Given the description of an element on the screen output the (x, y) to click on. 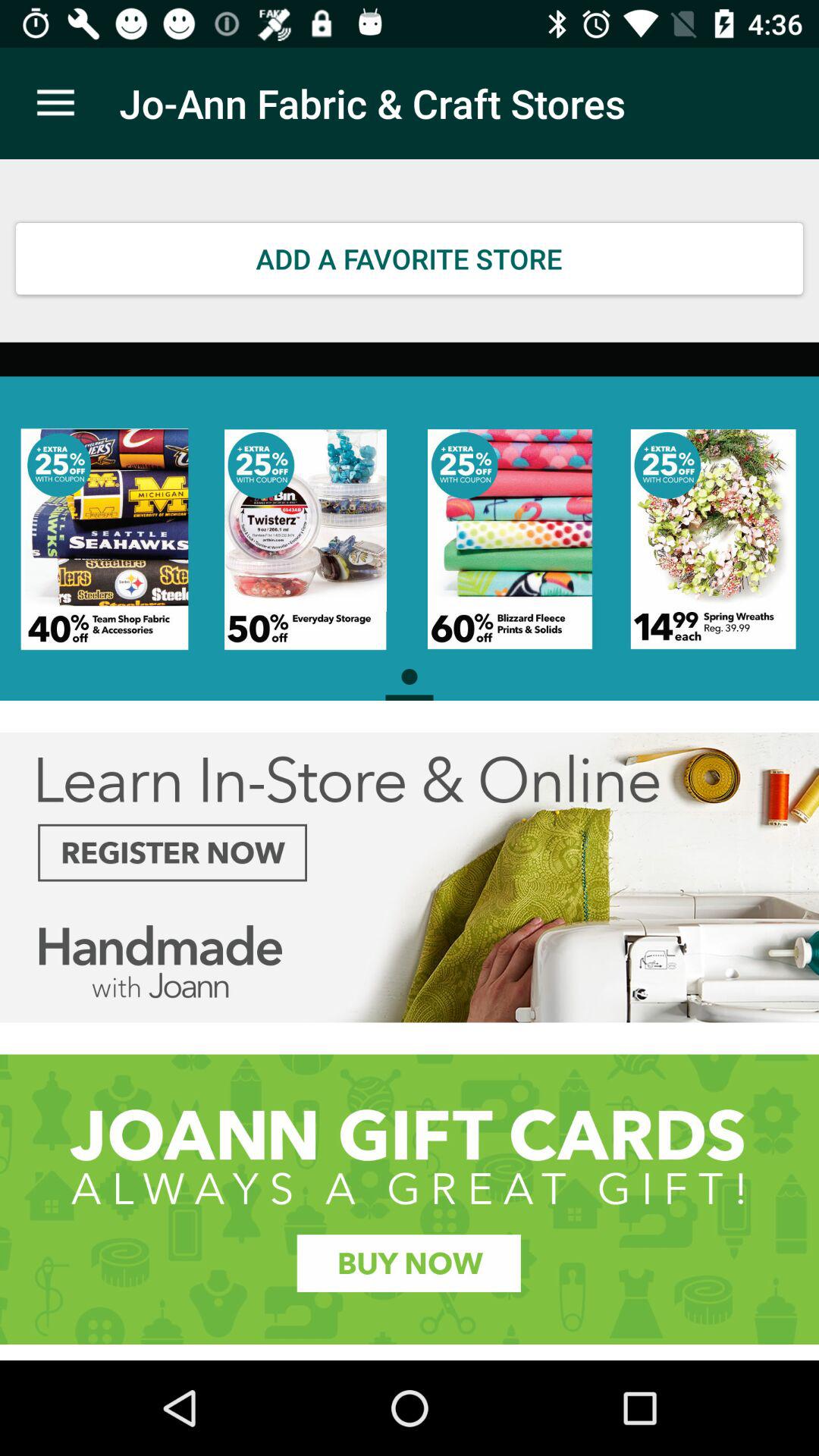
advertisement (409, 877)
